Given the description of an element on the screen output the (x, y) to click on. 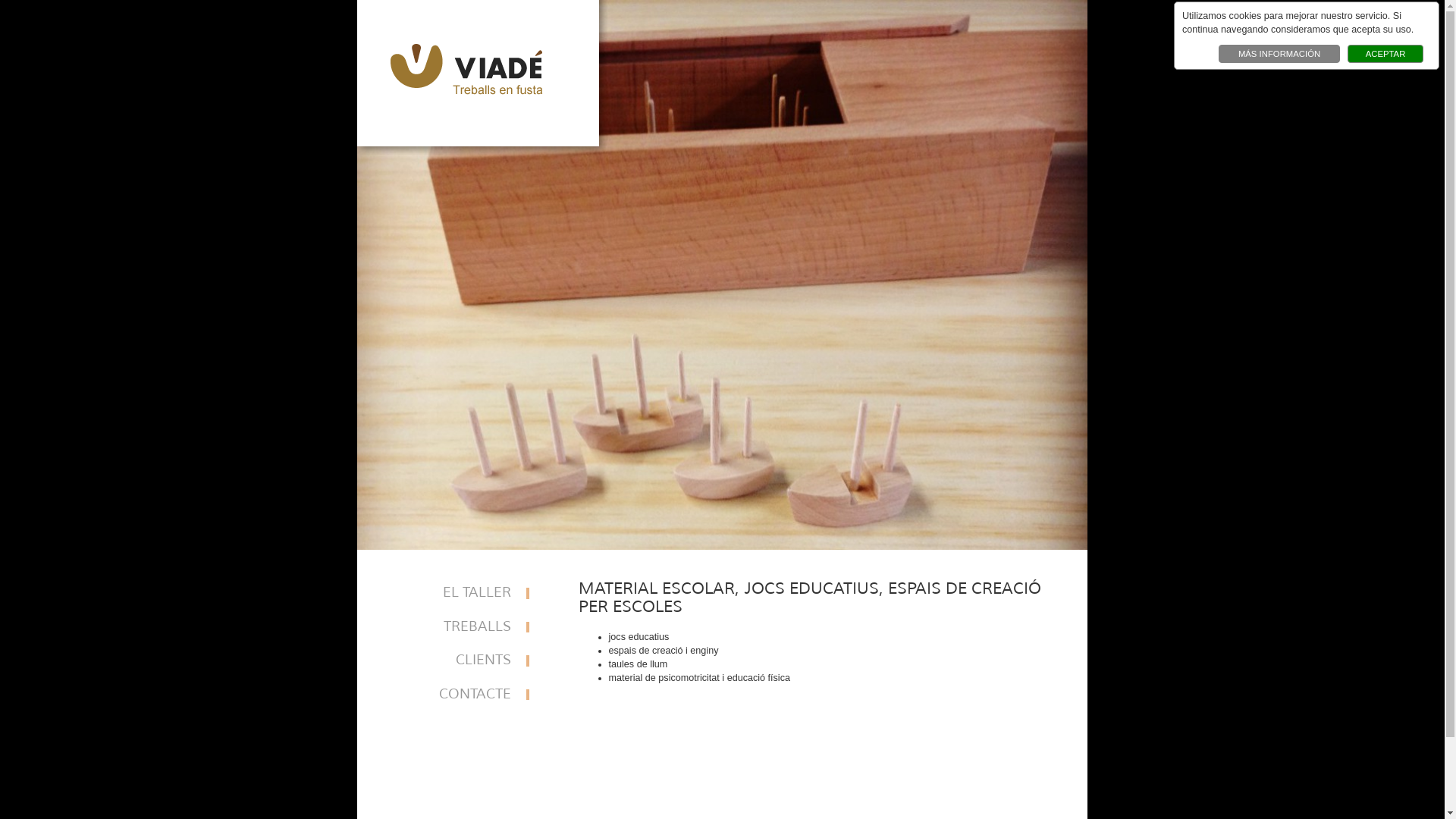
TREBALLS Element type: text (463, 627)
ACEPTAR Element type: text (1385, 53)
CLIENTS Element type: text (463, 660)
CONTACTE Element type: text (463, 694)
EL TALLER Element type: text (463, 593)
